Given the description of an element on the screen output the (x, y) to click on. 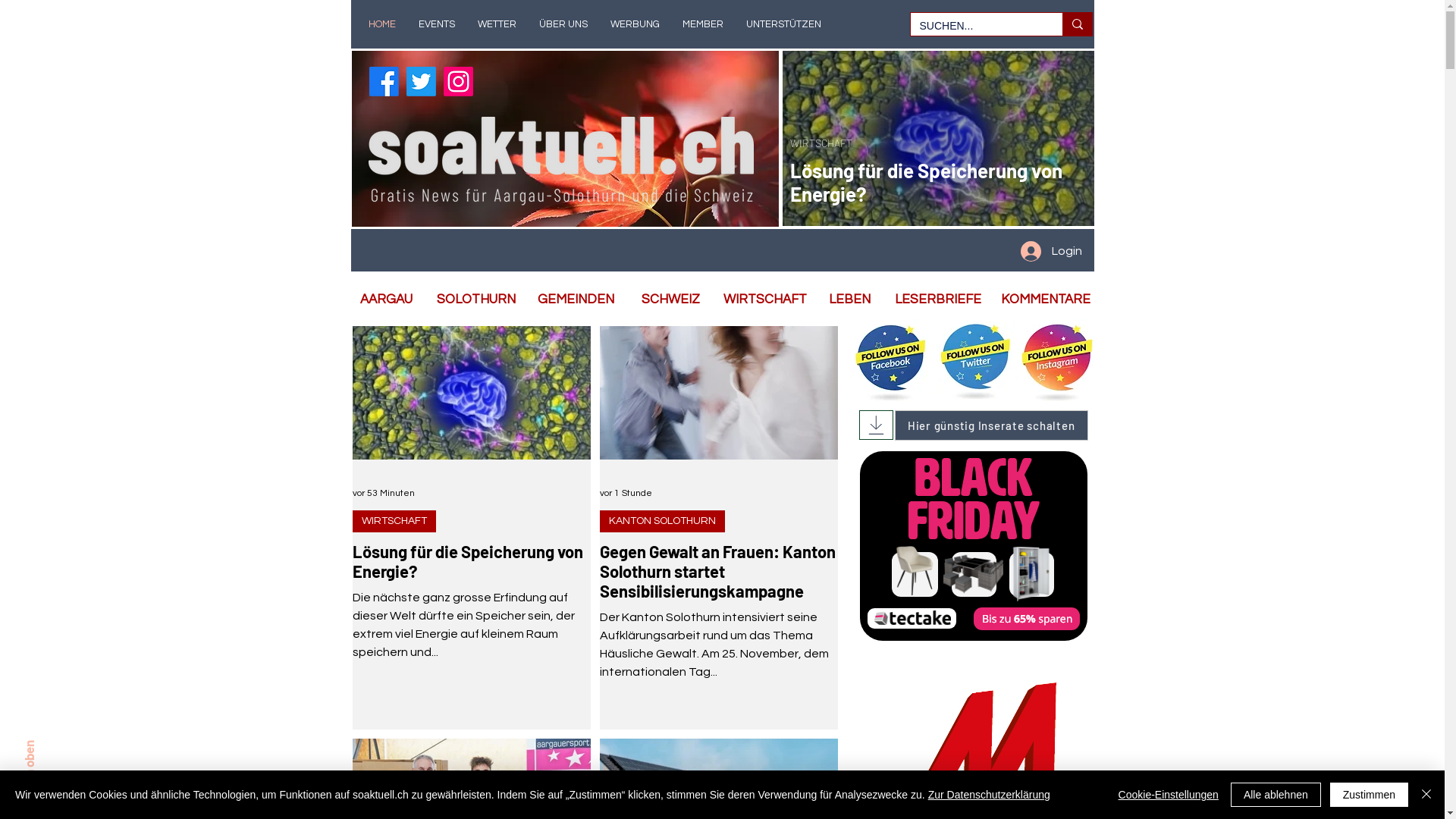
LESERBRIEFE Element type: text (931, 299)
KANTON SOLOTHURN Element type: text (661, 521)
GEMEINDEN Element type: text (570, 299)
WIRTSCHAFT Element type: text (393, 521)
Web-Stat Element type: hover (571, 200)
instagram.jpg Element type: hover (1056, 359)
HOME Element type: text (381, 24)
KOMMENTARE Element type: text (1039, 299)
facebook_edited.jpg Element type: hover (890, 359)
Zustimmen Element type: text (1369, 794)
twitter_edited.jpg Element type: hover (975, 359)
Web-Stat Element type: hover (443, 200)
Login Element type: text (1051, 251)
EVENTS Element type: text (435, 24)
Wix Weather Element type: hover (434, 250)
Inserat Reifen Direkt Element type: hover (973, 546)
WIRTSCHAFT Element type: text (821, 142)
nach oben Element type: text (49, 747)
WETTER Element type: text (496, 24)
AARGAU Element type: text (380, 299)
WIRTSCHAFT Element type: text (759, 299)
LEBEN Element type: text (844, 299)
SOLOTHURN Element type: text (470, 299)
MEMBER Element type: text (702, 24)
Alle ablehnen Element type: text (1275, 794)
SCHWEIZ Element type: text (665, 299)
